Given the description of an element on the screen output the (x, y) to click on. 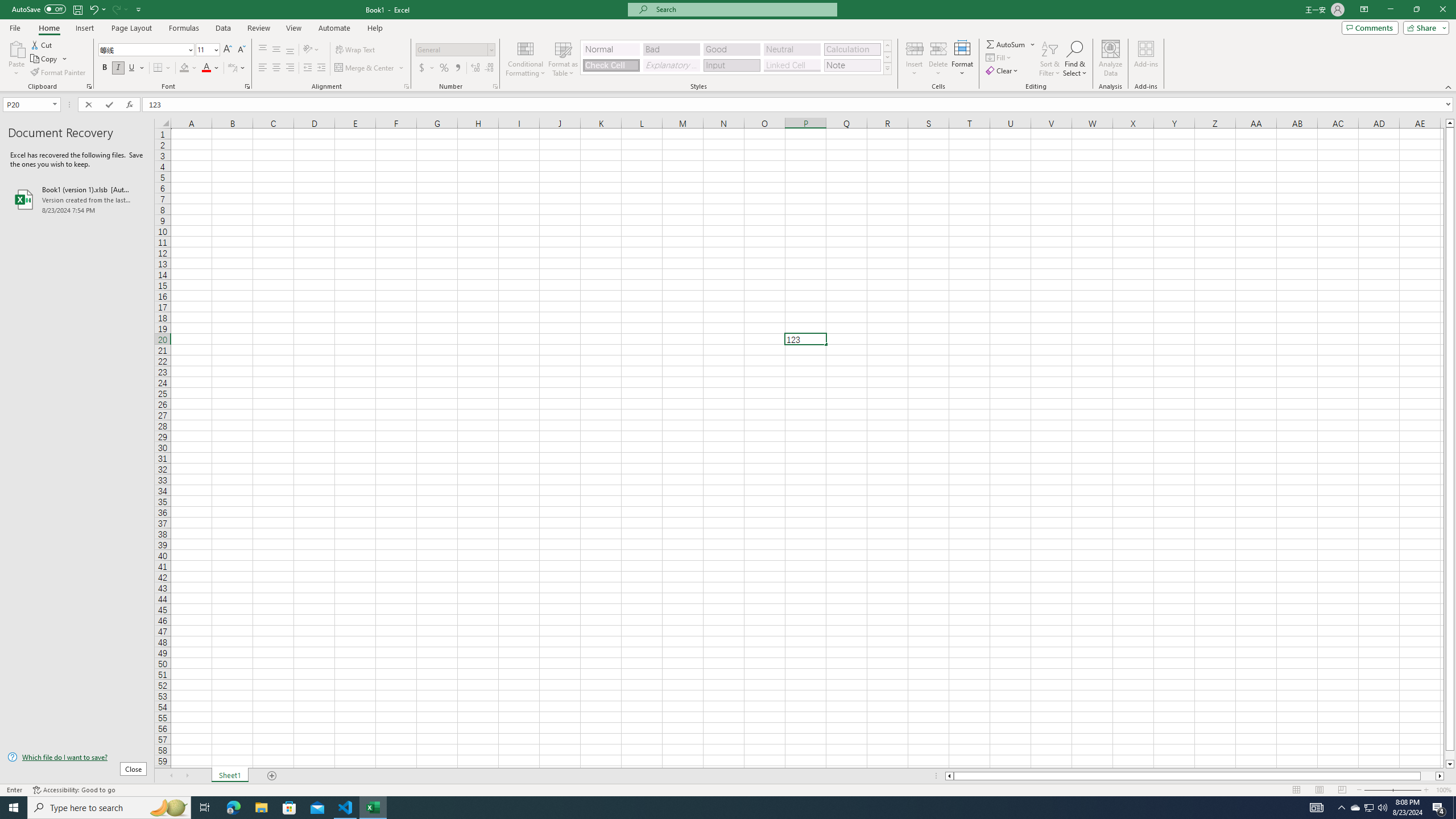
Restore Down (1416, 9)
Copy (45, 58)
Merge & Center (369, 67)
Class: MsoCommandBar (728, 45)
Check Cell (611, 65)
Format Cell Number (494, 85)
Automate (334, 28)
Zoom Out (1377, 790)
Format Cell Alignment (405, 85)
Ribbon Display Options (1364, 9)
Align Right (290, 67)
Collapse the Ribbon (1448, 86)
Page Layout (1318, 790)
Redo (115, 9)
Column left (948, 775)
